Given the description of an element on the screen output the (x, y) to click on. 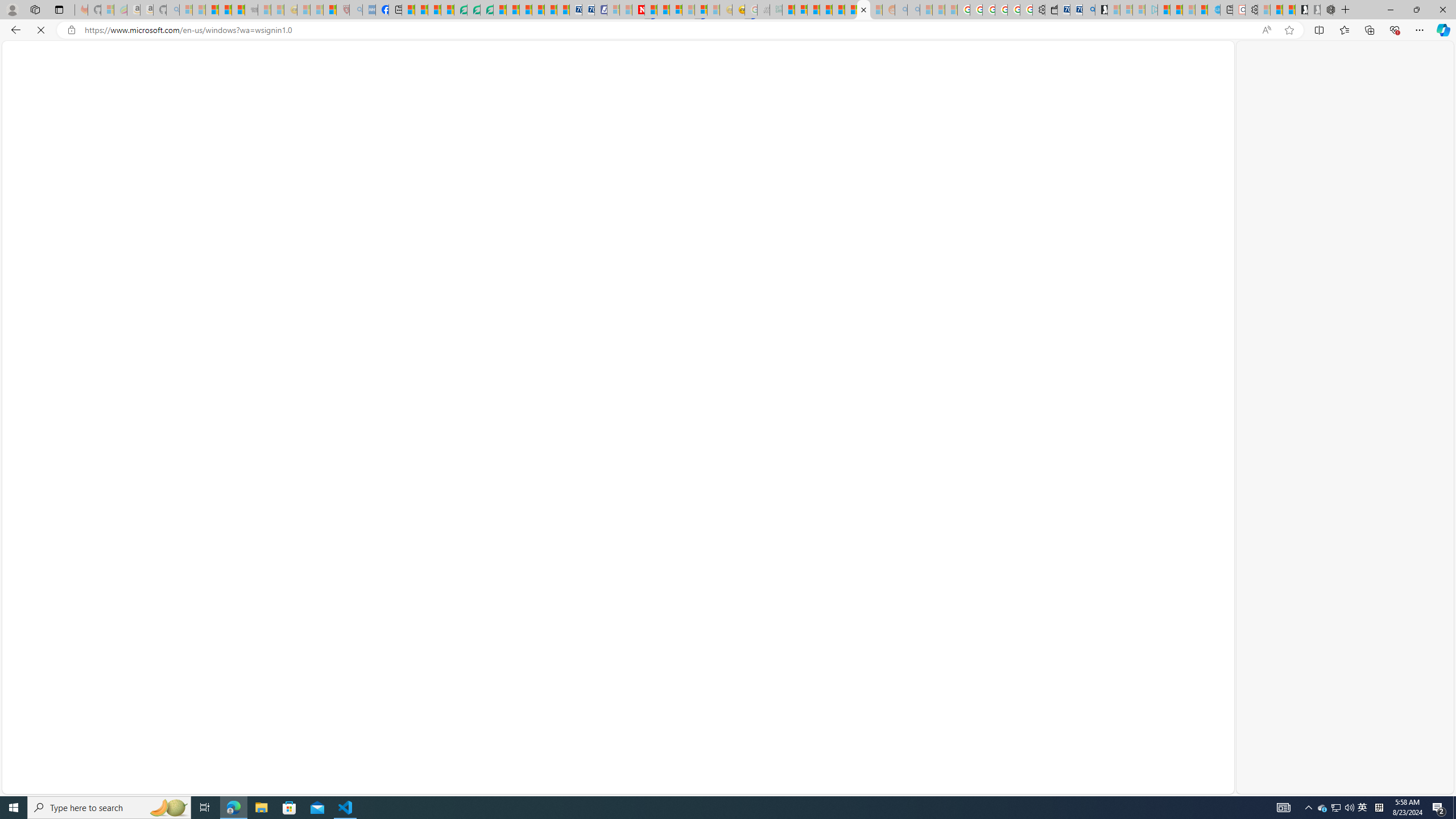
Terms of Use Agreement (473, 9)
Local - MSN (329, 9)
